Given the description of an element on the screen output the (x, y) to click on. 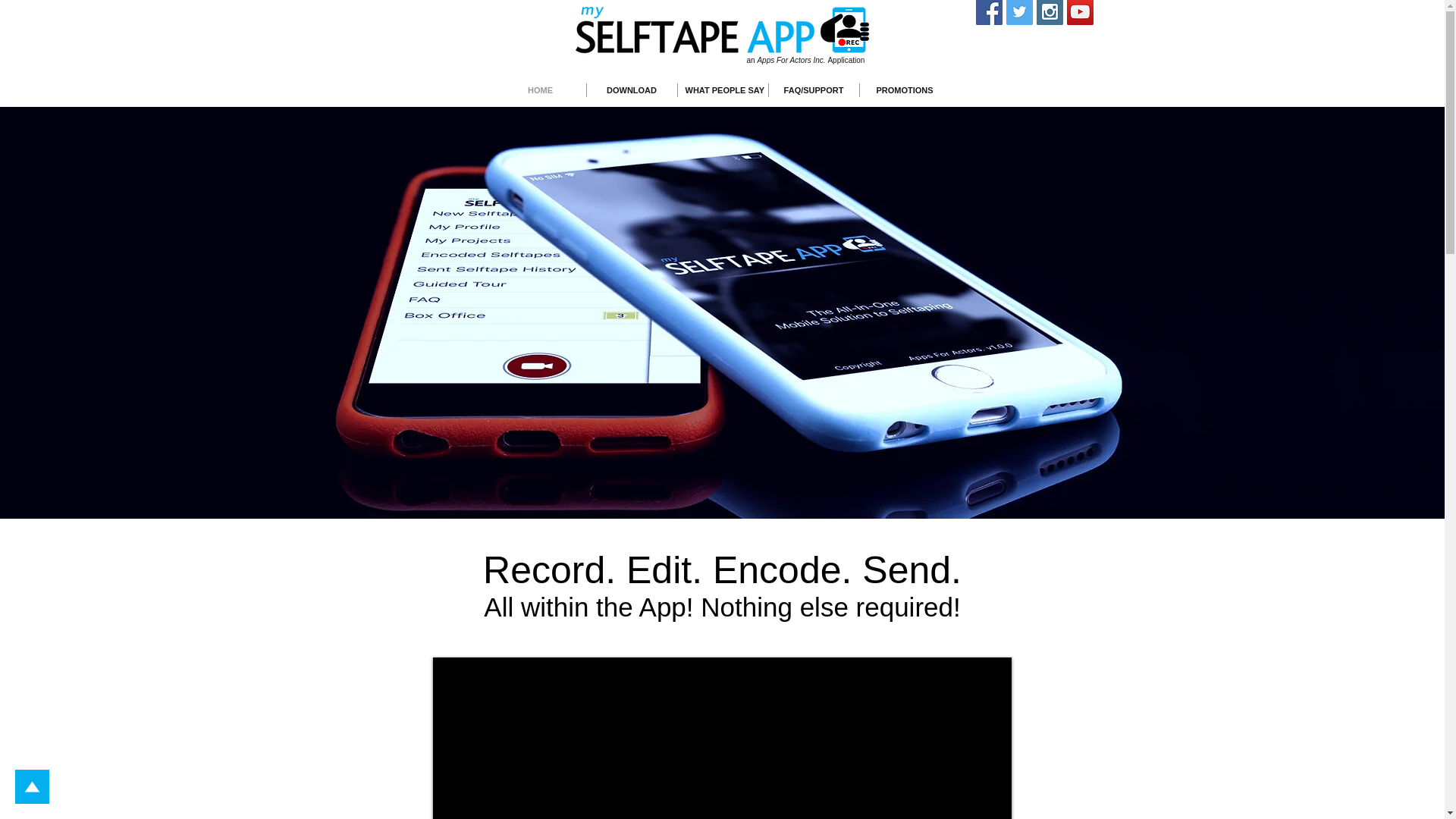
PROMOTIONS (905, 90)
External YouTube (721, 738)
DOWNLOAD (631, 90)
HOME (540, 90)
WHAT PEOPLE SAY (723, 90)
